Given the description of an element on the screen output the (x, y) to click on. 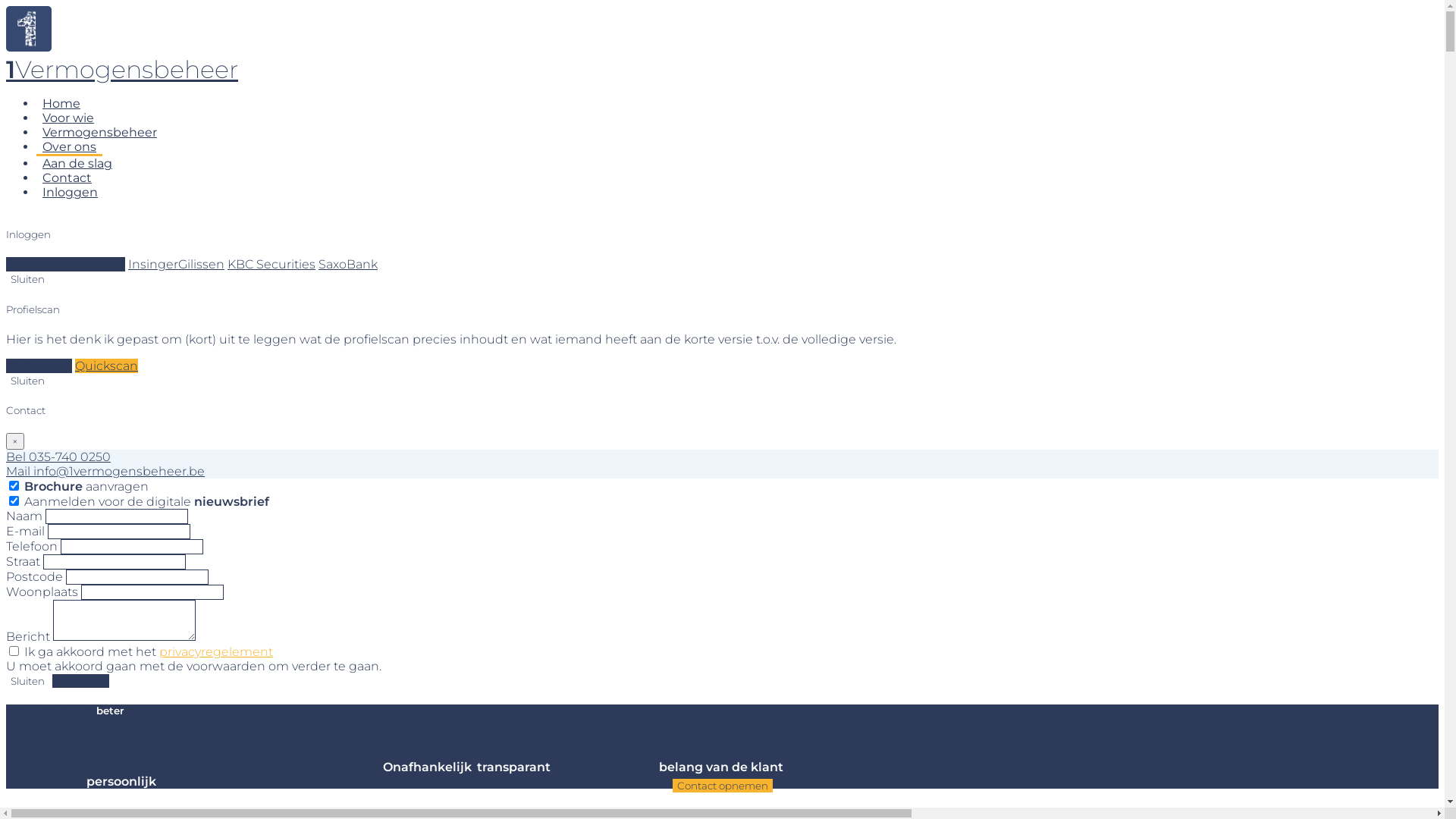
1Vermogensbeheer Element type: text (122, 69)
Profielscan Element type: text (39, 365)
Versturen Element type: text (80, 680)
Bel 035-740 0250 Element type: text (58, 456)
Contact Element type: text (66, 177)
SaxoBank Element type: text (347, 264)
privacyregelement Element type: text (216, 651)
Vermogensbeheer Element type: text (99, 132)
Sluiten Element type: text (27, 278)
Home Element type: text (61, 103)
Mail info@1vermogensbeheer.be Element type: text (105, 471)
Voor wie Element type: text (68, 117)
Inloggen Element type: text (69, 192)
1Vermogensbeheer Element type: text (65, 264)
KBC Securities Element type: text (271, 264)
Aan de slag Element type: text (77, 163)
InsingerGilissen Element type: text (176, 264)
Contact opnemen Element type: text (721, 785)
Sluiten Element type: text (27, 680)
Quickscan Element type: text (106, 365)
Sluiten Element type: text (27, 380)
Over ons Element type: text (69, 147)
